Given the description of an element on the screen output the (x, y) to click on. 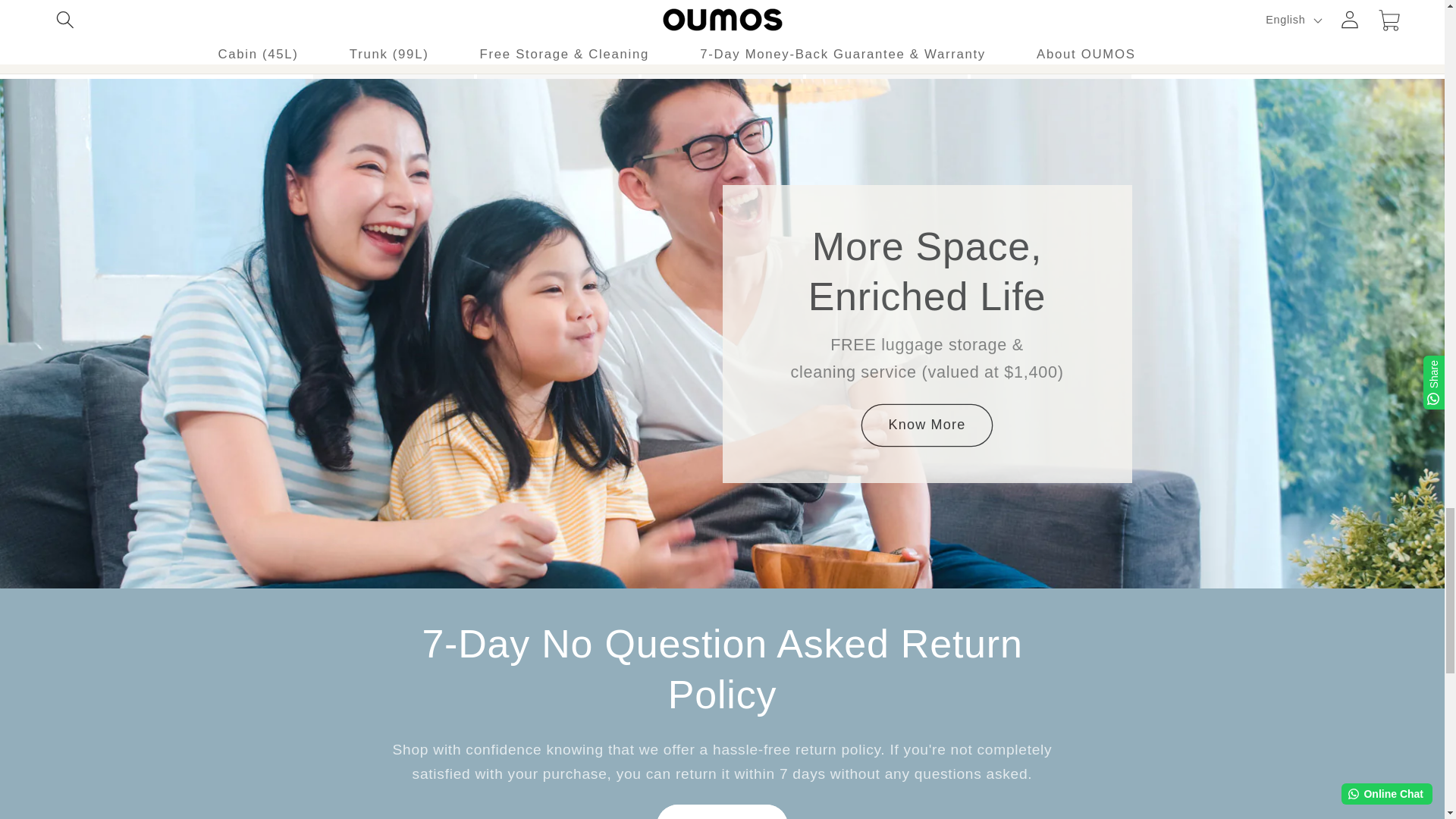
Know More (926, 425)
Know More (722, 811)
